Given the description of an element on the screen output the (x, y) to click on. 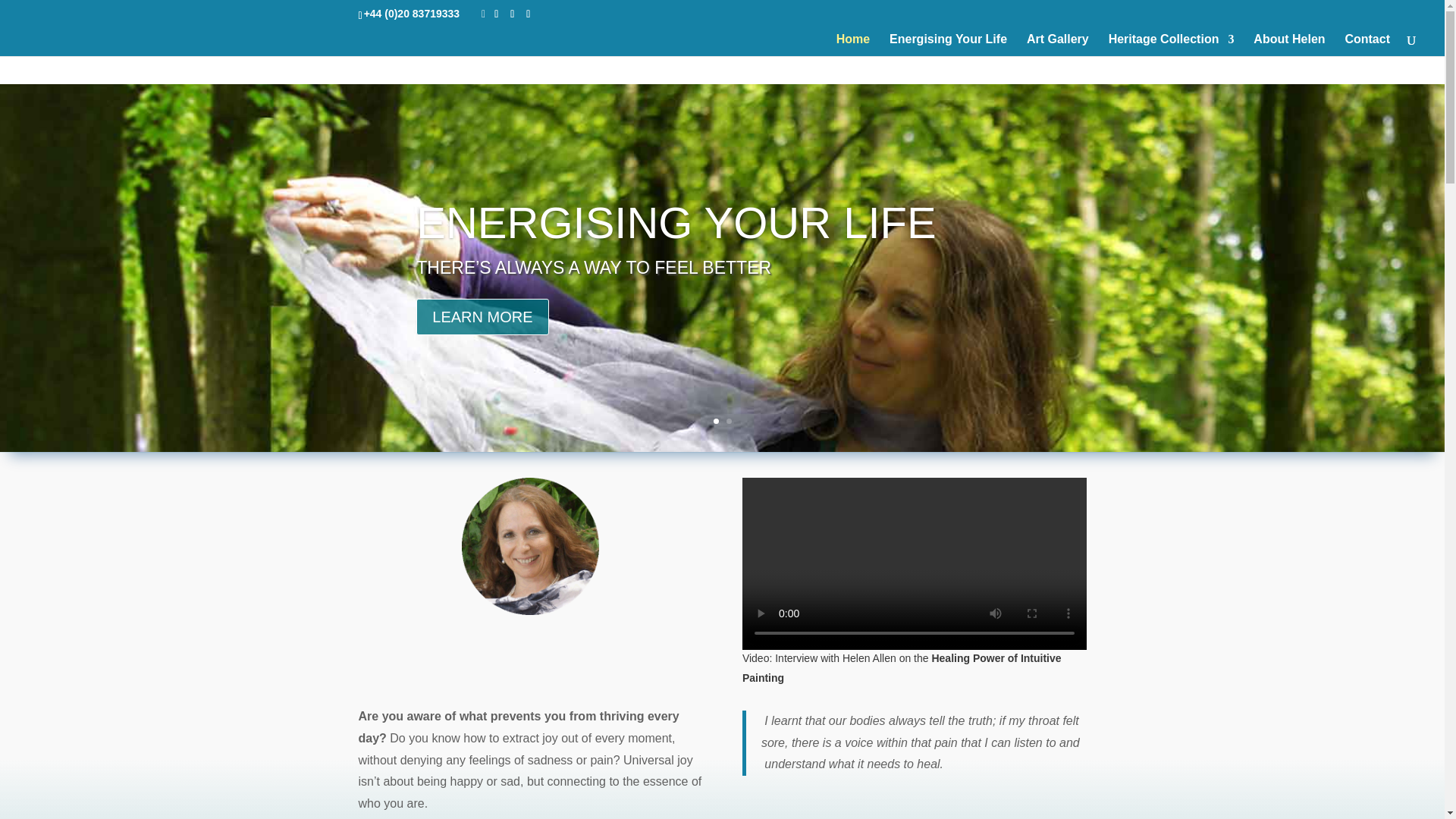
Energising Your Life (948, 45)
Art Gallery (1057, 45)
Heritage Collection (1171, 45)
Contact (1366, 45)
Home (852, 45)
2 (729, 421)
About Helen (1288, 45)
